Given the description of an element on the screen output the (x, y) to click on. 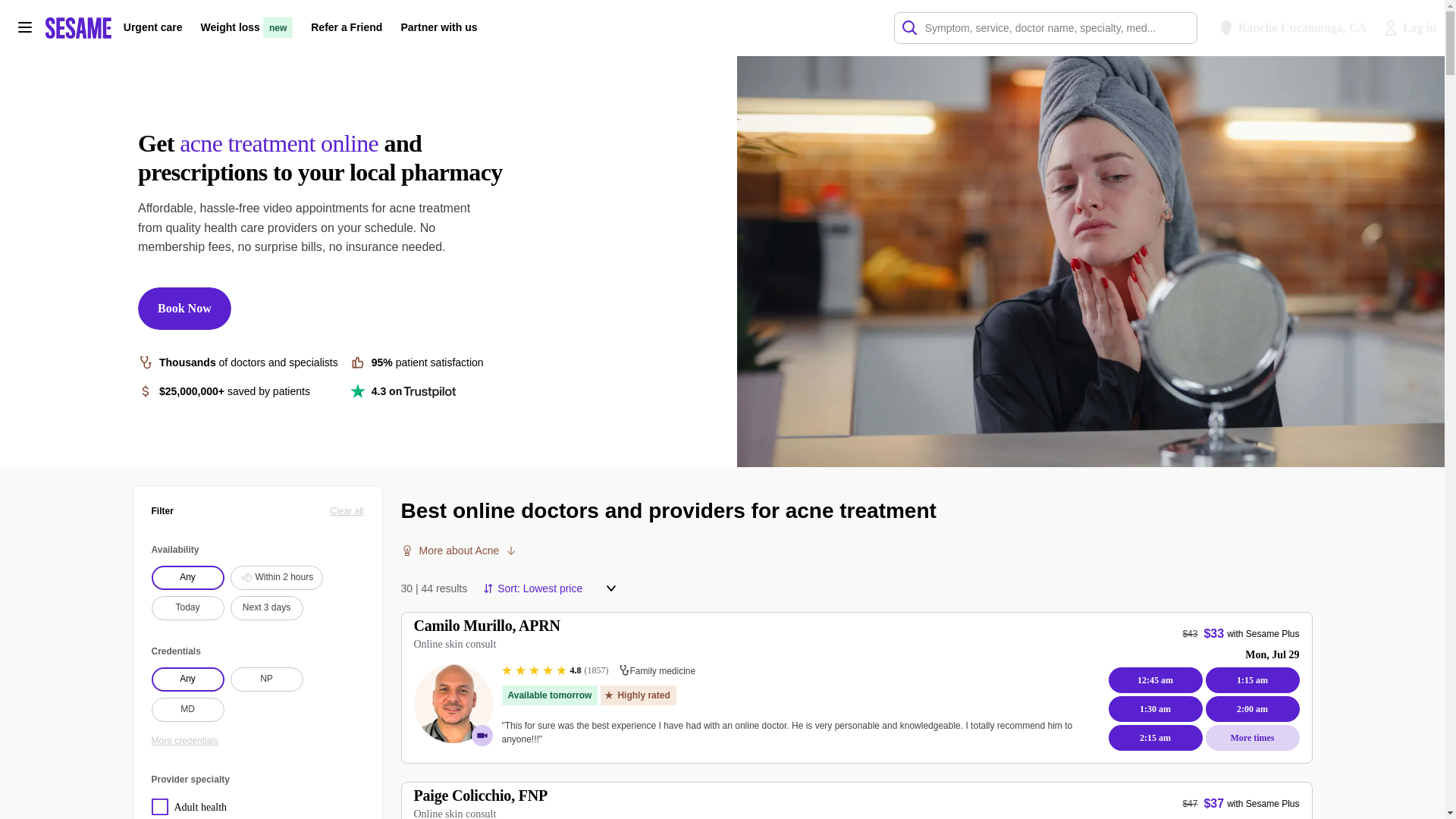
This provider has an overall rating of 4.8 out of 5 stars. (555, 670)
Menu closed (611, 587)
Back to homepage (78, 27)
